Given the description of an element on the screen output the (x, y) to click on. 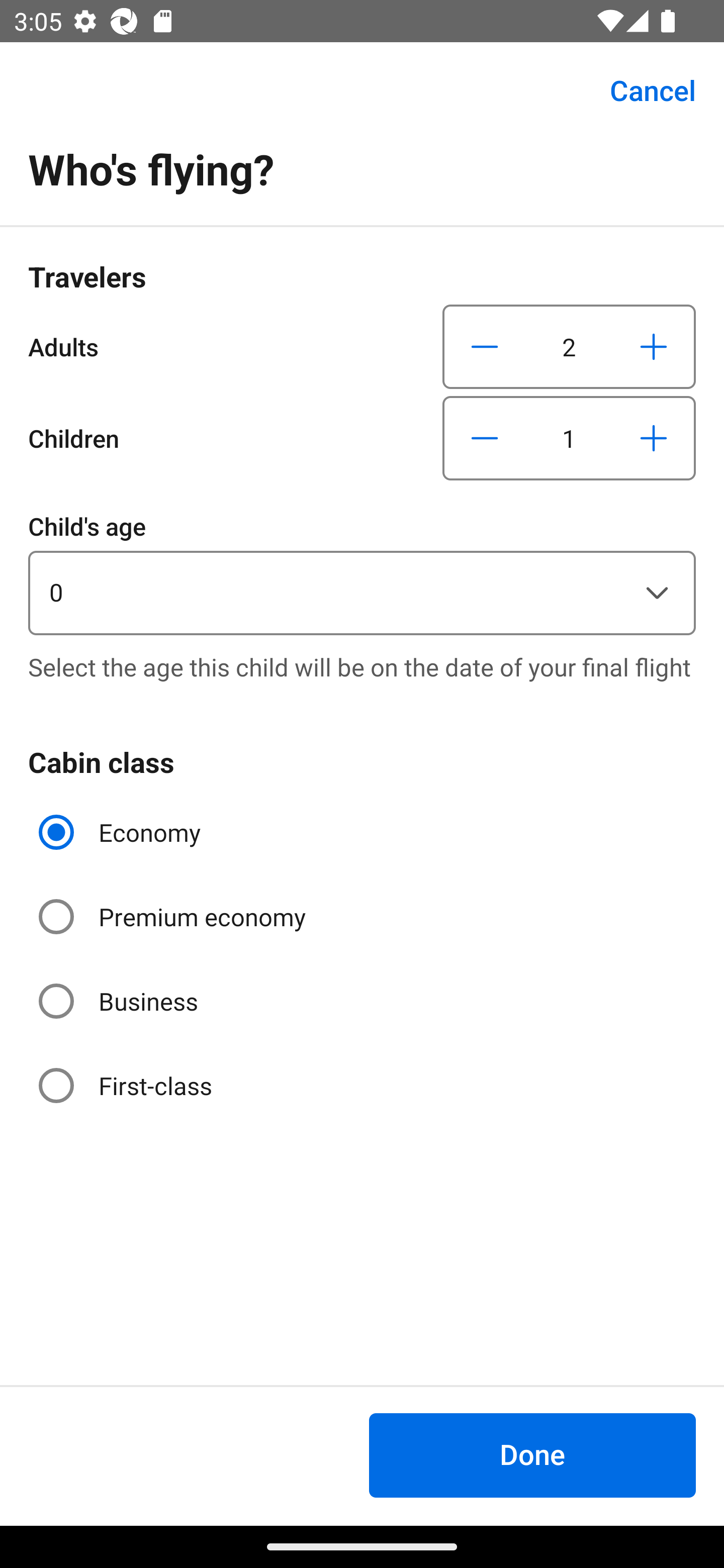
Cancel (641, 90)
Decrease (484, 346)
Increase (653, 346)
Decrease (484, 437)
Increase (653, 437)
Child's age
 Child's age 0 (361, 571)
Economy (121, 832)
Premium economy (174, 916)
Business (120, 1000)
First-class (126, 1084)
Done (532, 1454)
